Given the description of an element on the screen output the (x, y) to click on. 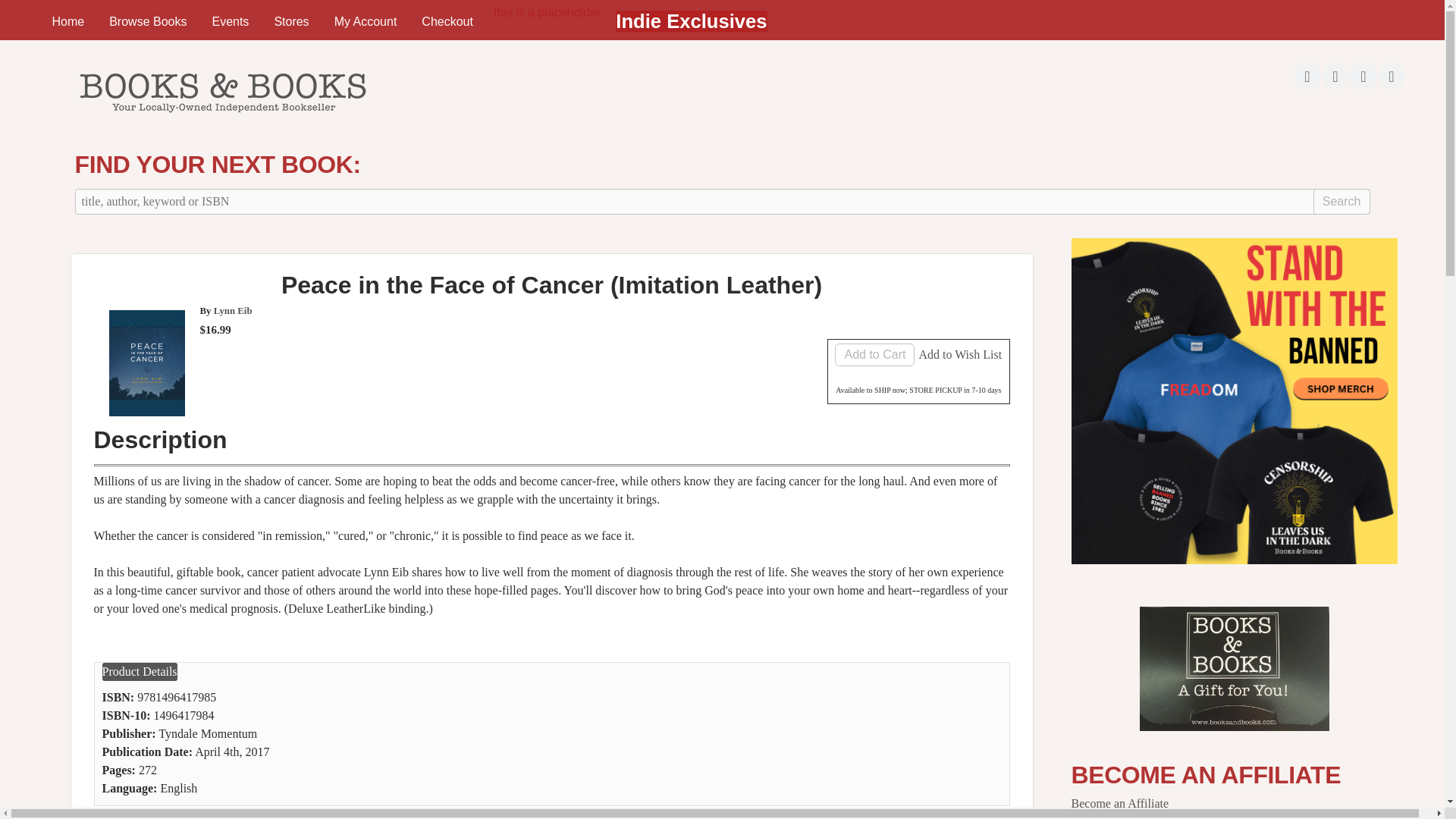
Lynn Eib (232, 310)
Add to Wish List (959, 354)
Stores (291, 22)
Checkout (446, 22)
Events (229, 22)
Search (1341, 201)
Add to Cart (874, 354)
Home page (220, 116)
Add to Cart (874, 354)
My Account (365, 22)
